Given the description of an element on the screen output the (x, y) to click on. 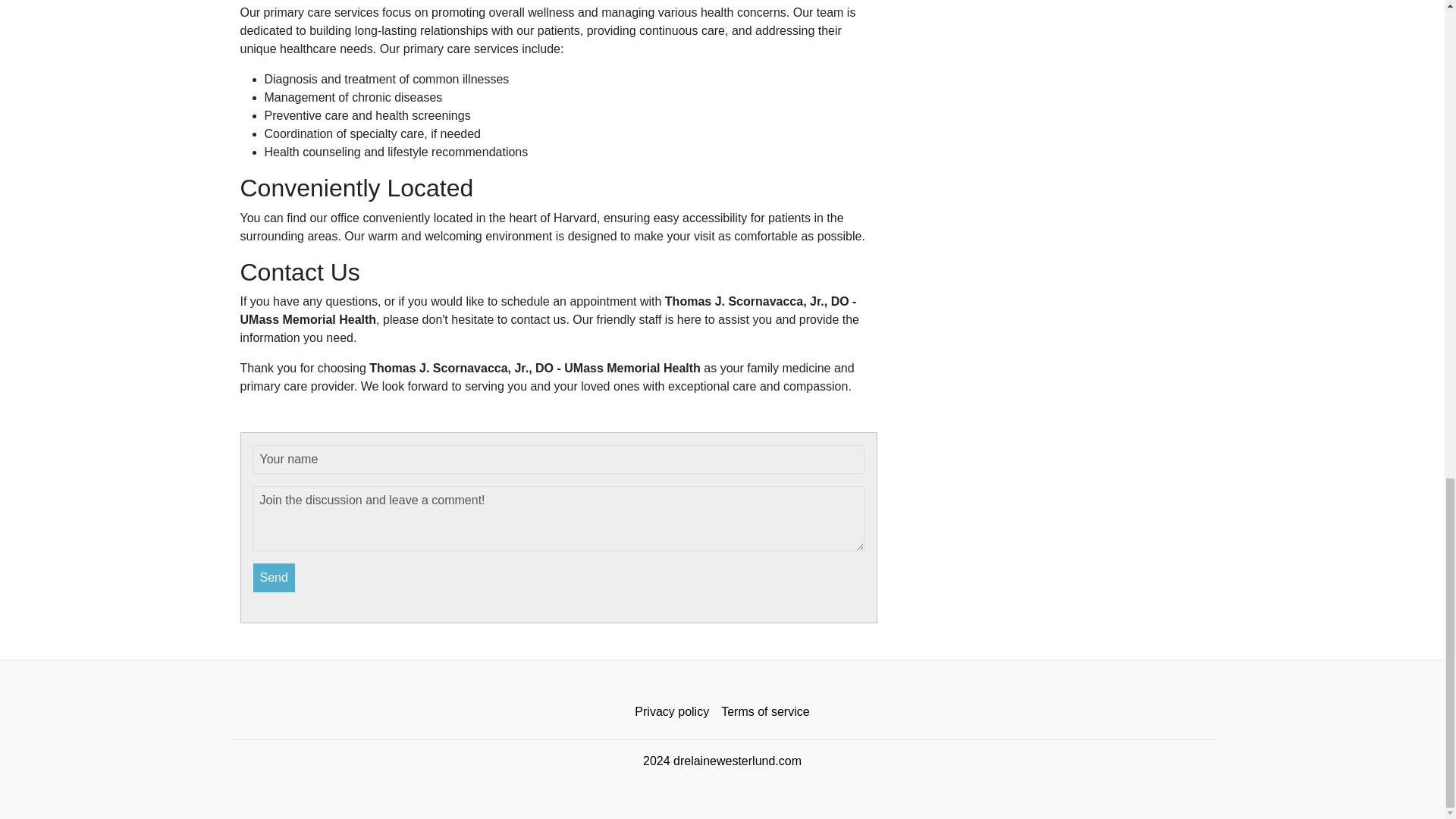
Terms of service (764, 711)
Send (274, 577)
Send (274, 577)
Privacy policy (671, 711)
